Given the description of an element on the screen output the (x, y) to click on. 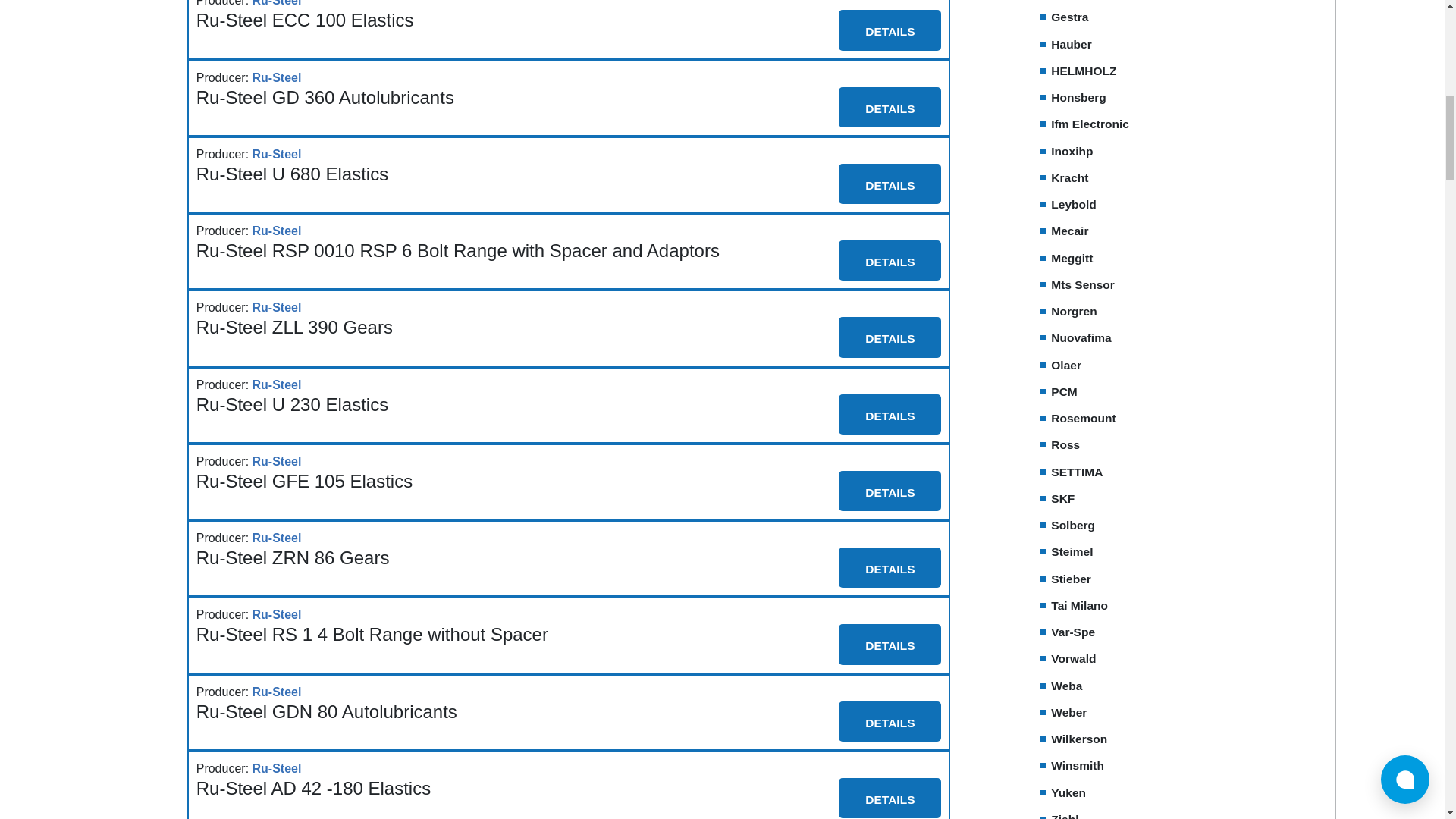
DETAILS (889, 29)
Ru-Steel (276, 4)
Ru-Steel RSP 0010 RSP 6 Bolt Range with Spacer and Adaptors (457, 250)
Ru-Steel (276, 154)
DETAILS (889, 106)
Ru-Steel ECC 100 Elastics (304, 19)
DETAILS (889, 183)
Ru-Steel U 680 Elastics (292, 173)
Ru-Steel (276, 230)
Ru-Steel (276, 77)
Ru-Steel GD 360 Autolubricants (325, 96)
